Given the description of an element on the screen output the (x, y) to click on. 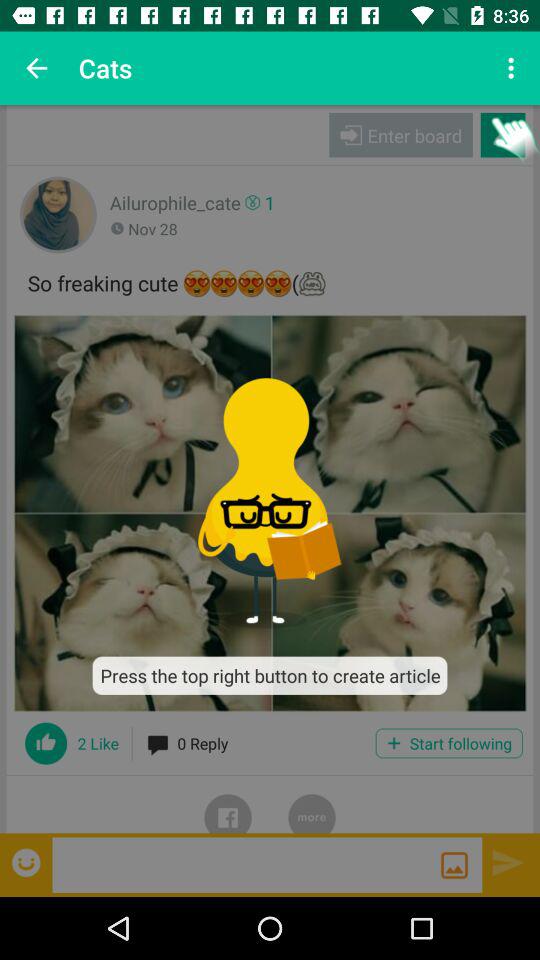
type in comment (246, 864)
